Given the description of an element on the screen output the (x, y) to click on. 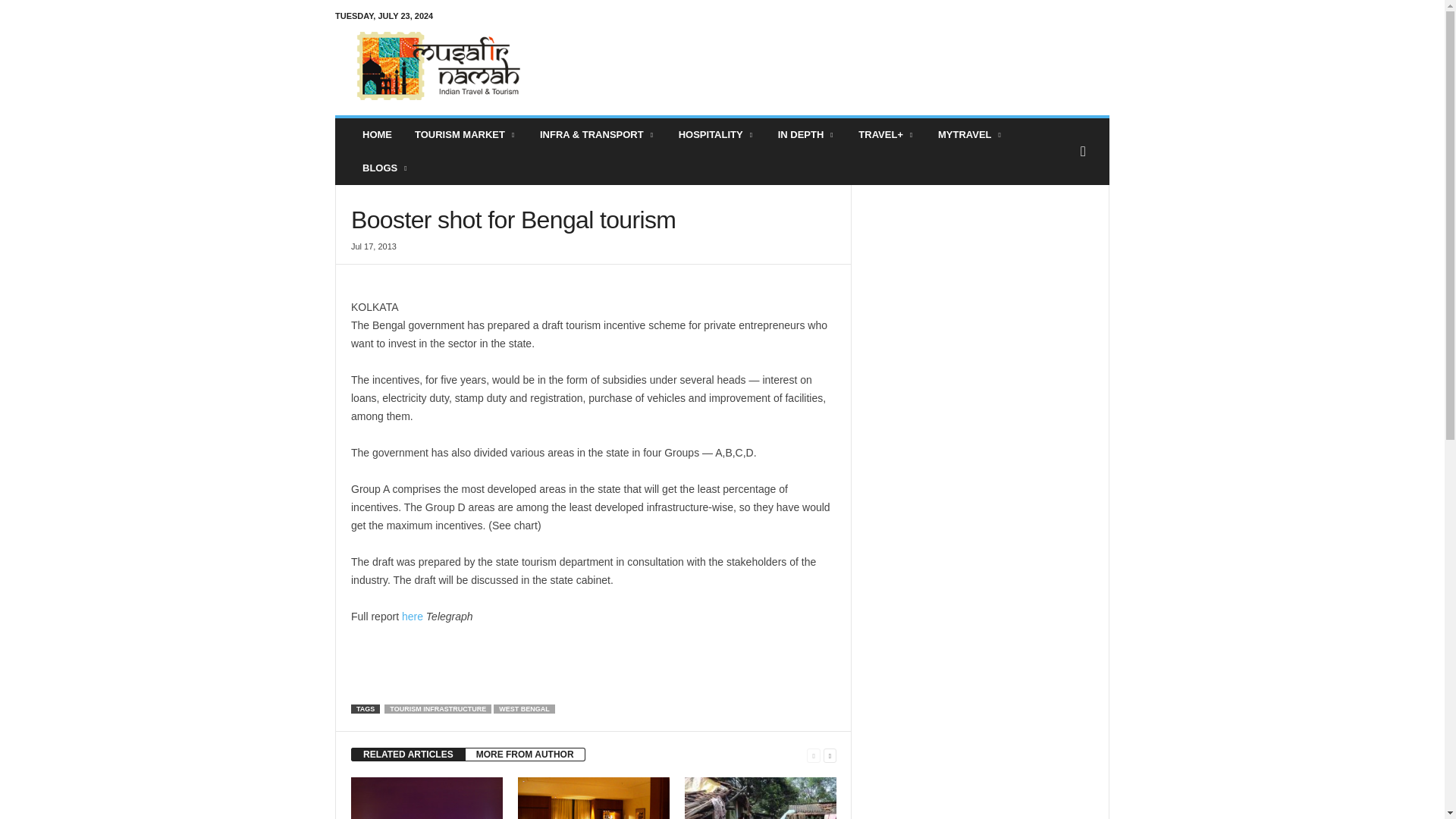
Blogs (385, 168)
Musafir Namah (438, 65)
